Given the description of an element on the screen output the (x, y) to click on. 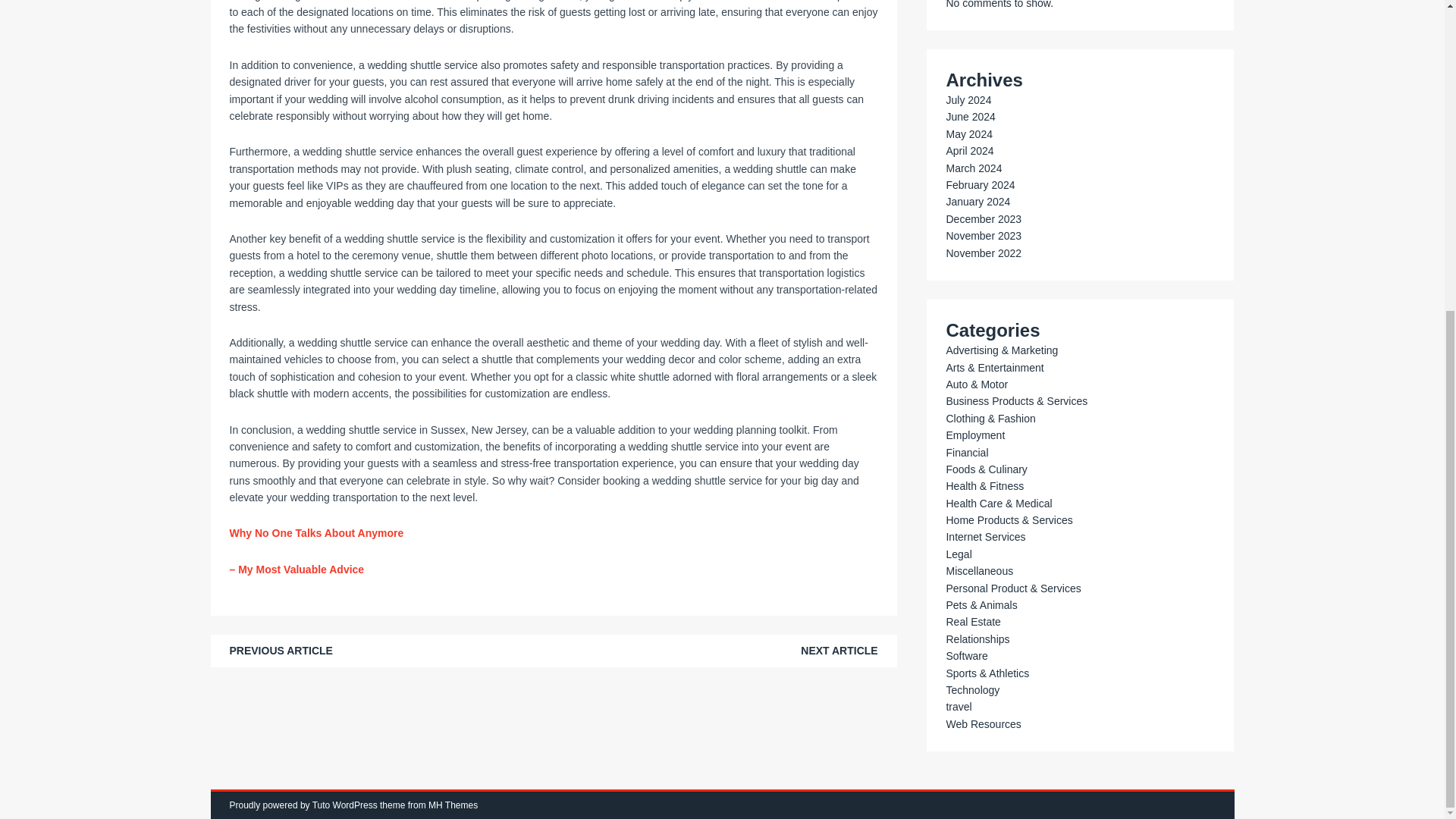
July 2024 (967, 100)
Employment (974, 435)
November 2023 (983, 235)
February 2024 (979, 184)
Financial (966, 452)
April 2024 (968, 150)
January 2024 (977, 201)
November 2022 (983, 253)
March 2024 (972, 168)
June 2024 (969, 116)
PREVIOUS ARTICLE (279, 650)
December 2023 (983, 218)
NEXT ARTICLE (838, 650)
May 2024 (967, 133)
Why No One Talks About Anymore (315, 532)
